Given the description of an element on the screen output the (x, y) to click on. 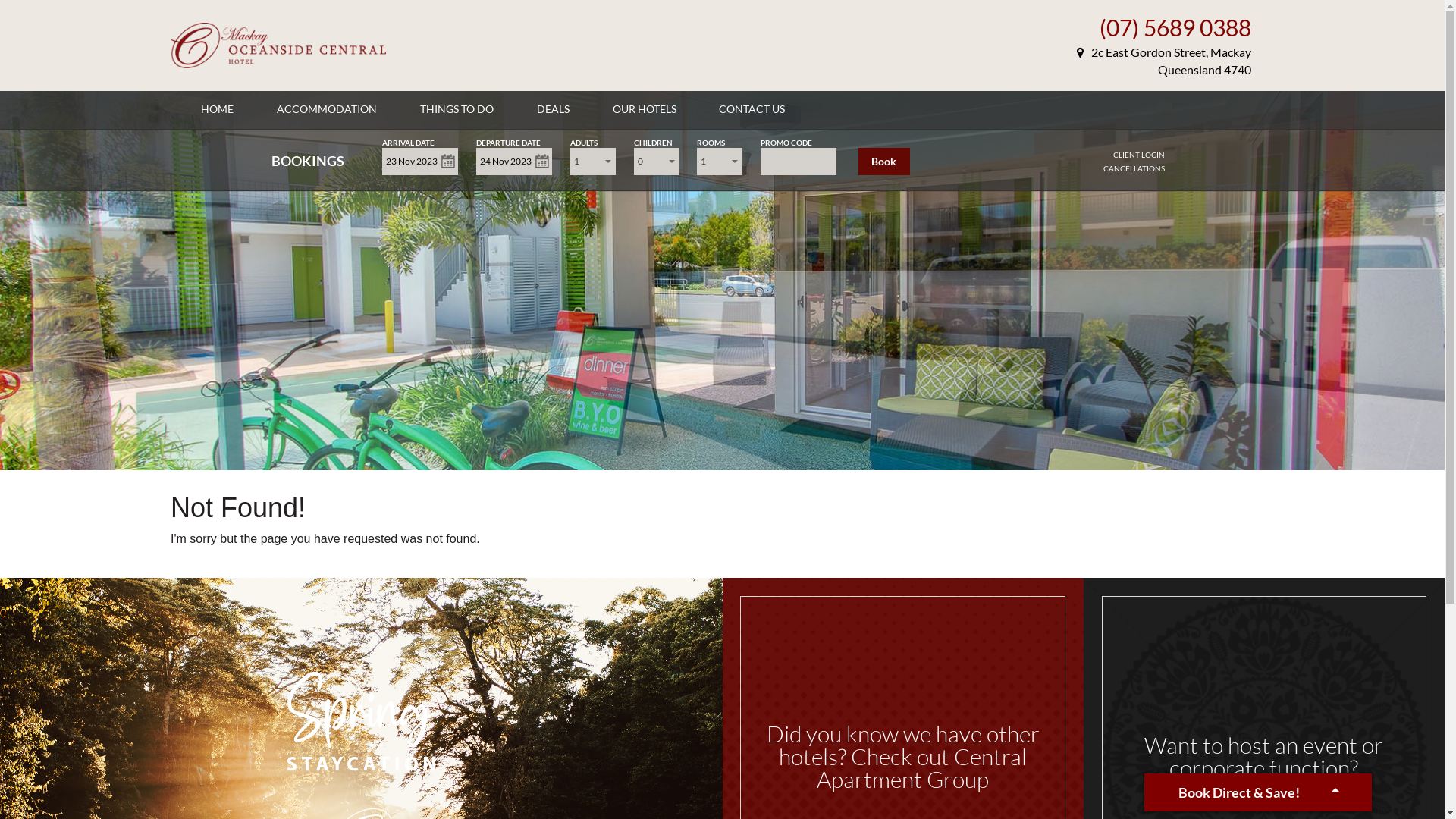
CANCELLATIONS Element type: text (1133, 167)
2c East Gordon Street, Mackay
Queensland 4740 Element type: text (1163, 60)
DEALS Element type: text (552, 109)
OUR HOTELS Element type: text (644, 109)
ACCOMMODATION Element type: text (326, 109)
HOME Element type: text (216, 109)
CLIENT LOGIN Element type: text (1138, 154)
CONTACT US Element type: text (751, 109)
THINGS TO DO Element type: text (456, 109)
(07) 5689 0388 Element type: text (1175, 26)
Book Element type: text (884, 161)
